Given the description of an element on the screen output the (x, y) to click on. 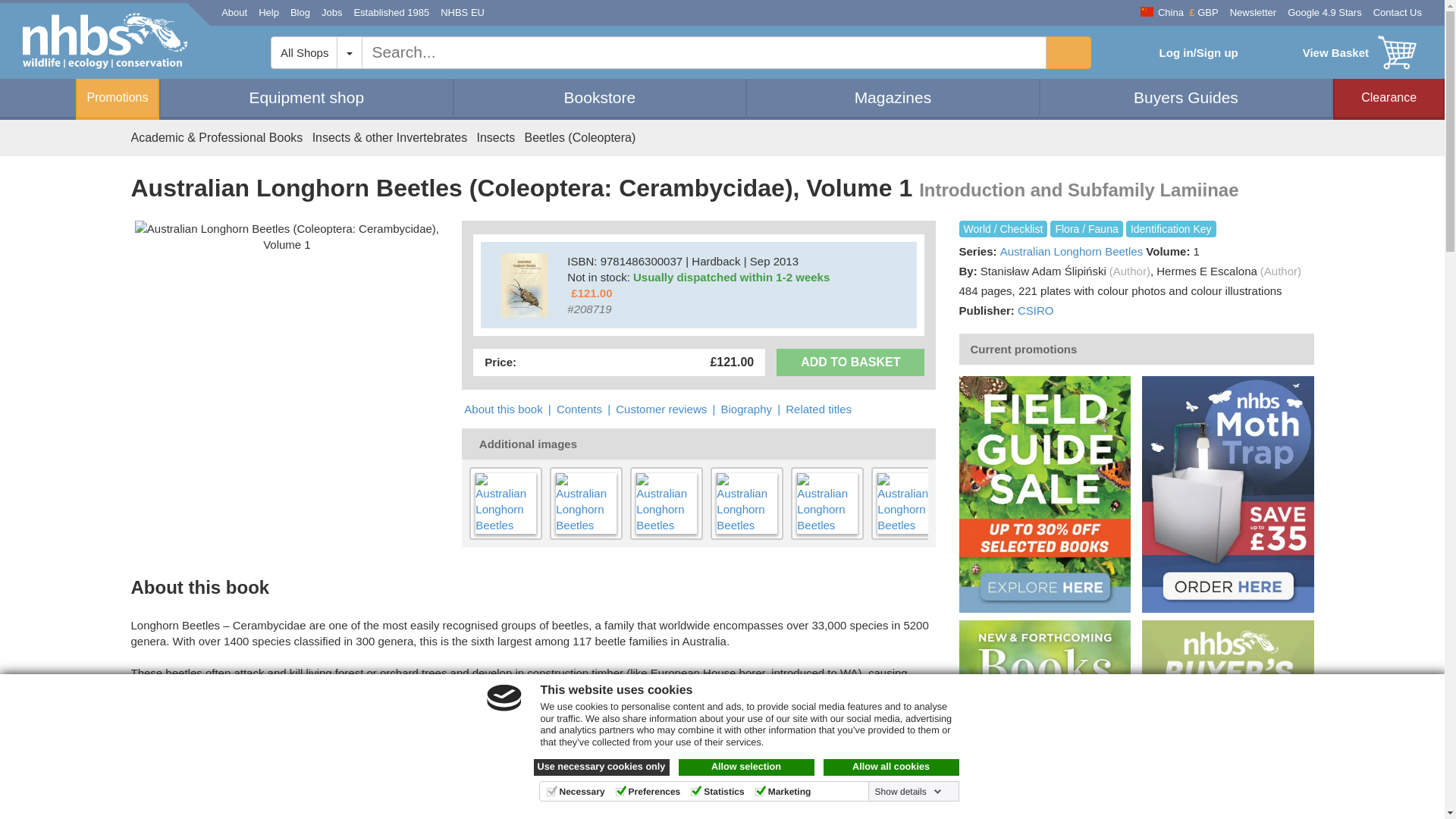
Allow selection (745, 767)
Allow all cookies (891, 767)
Use necessary cookies only (601, 767)
Show details (908, 791)
